Given the description of an element on the screen output the (x, y) to click on. 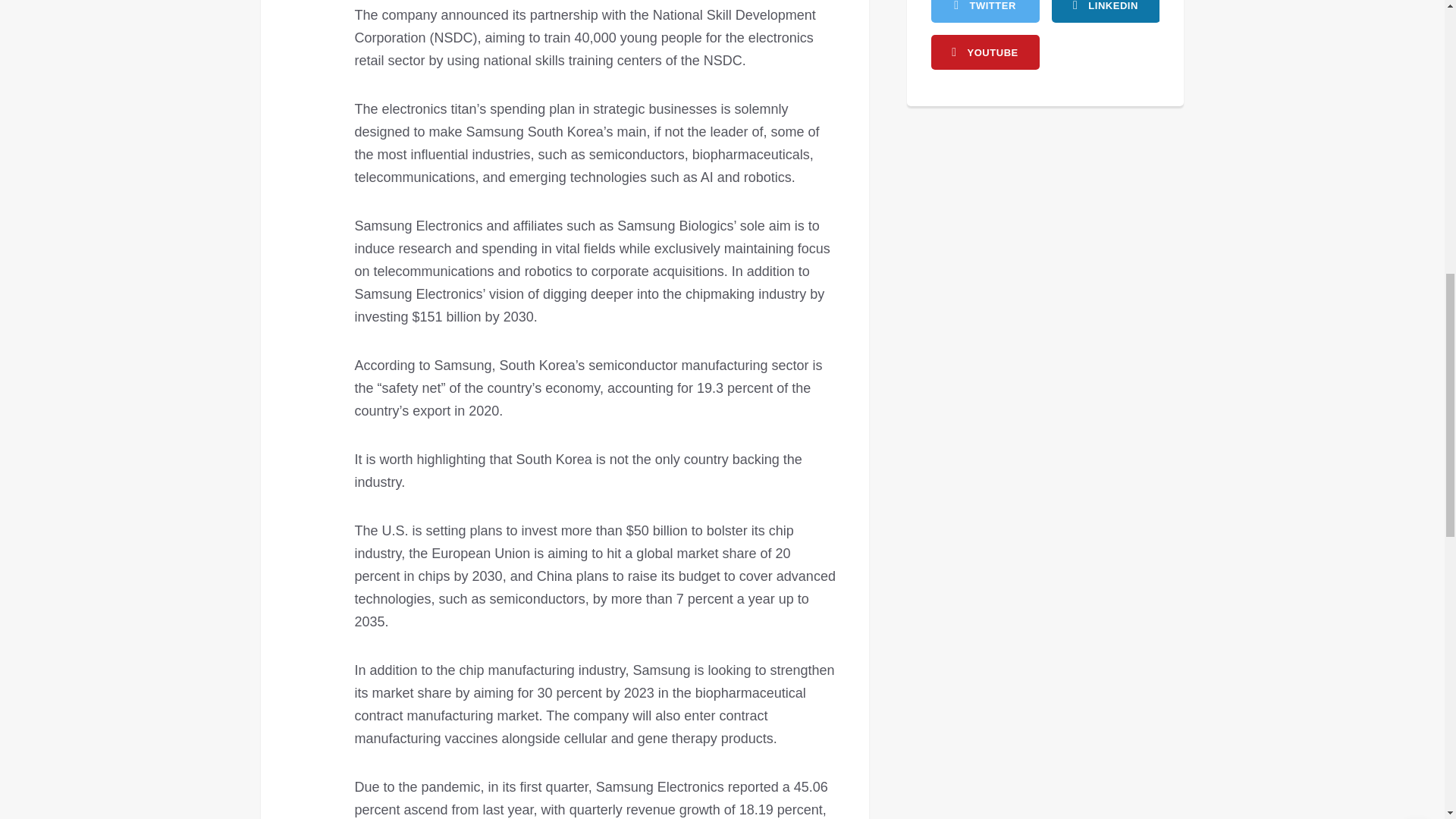
youtube (985, 52)
rss (1104, 11)
twitter (985, 11)
